Given the description of an element on the screen output the (x, y) to click on. 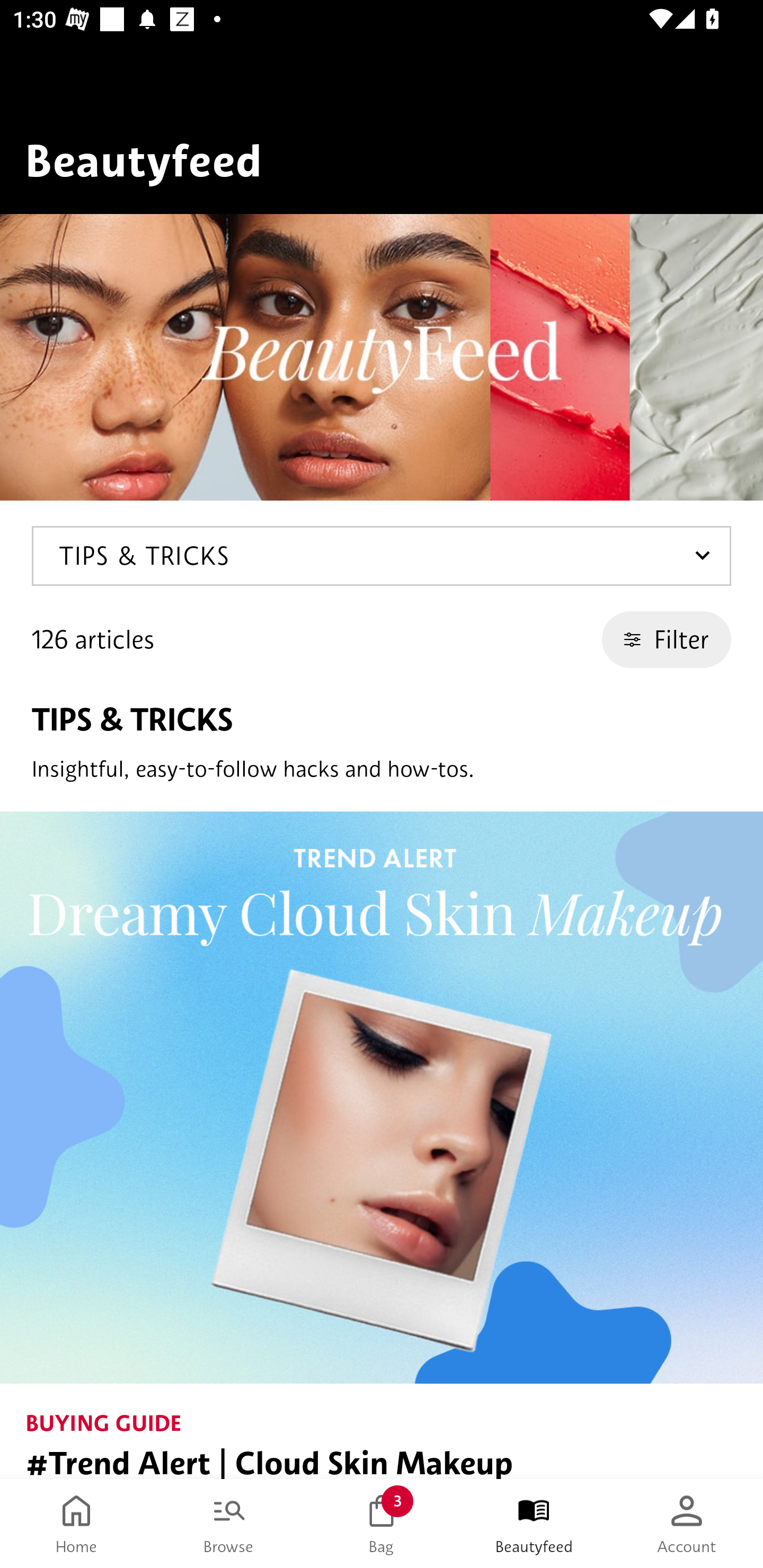
TIPS & TRICKS (381, 555)
Filter (666, 639)
BUYING GUIDE #Trend Alert | Cloud Skin Makeup (381, 1145)
Home (76, 1523)
Browse (228, 1523)
Bag 3 Bag (381, 1523)
Account (686, 1523)
